Given the description of an element on the screen output the (x, y) to click on. 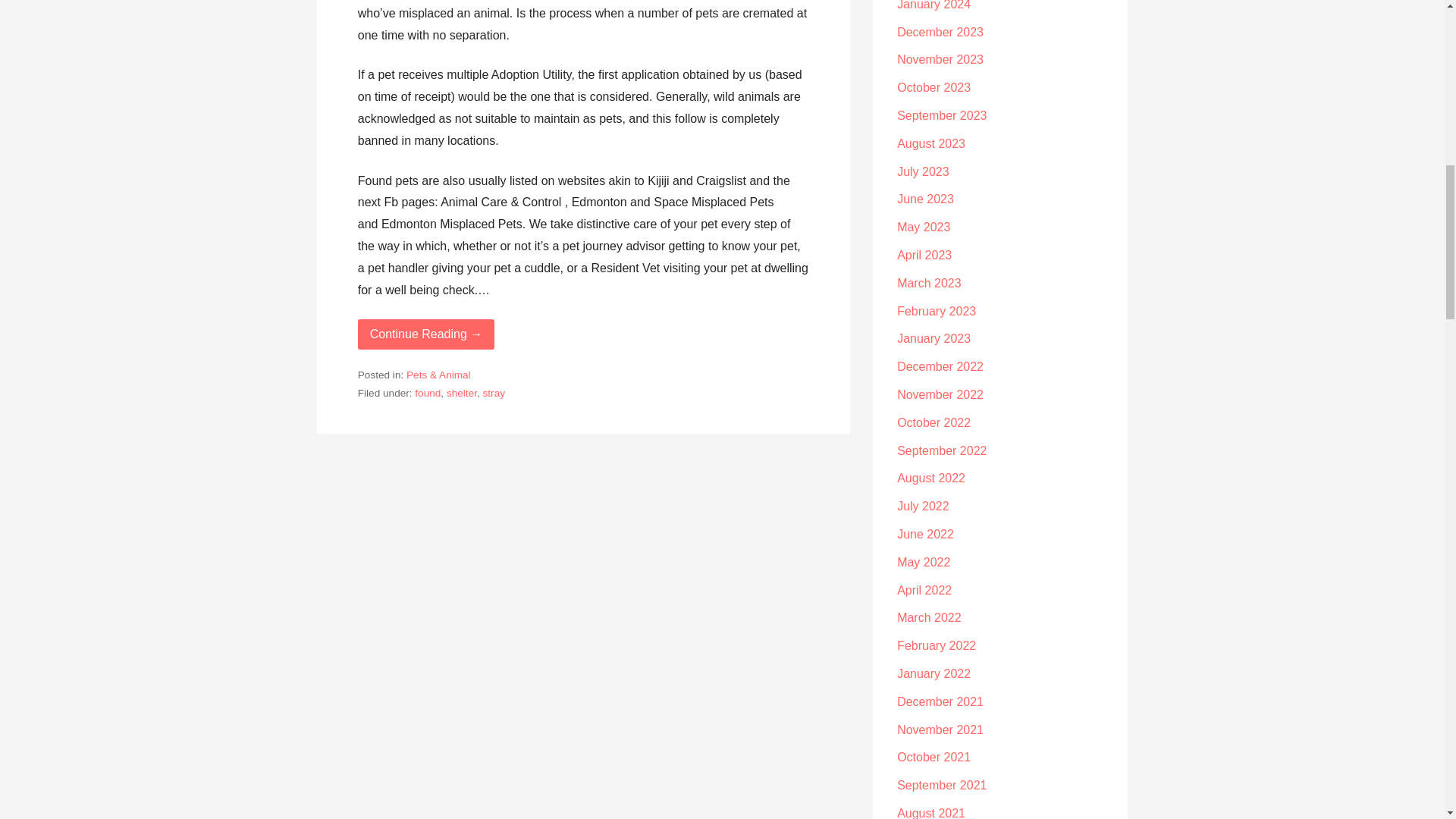
March 2023 (928, 282)
June 2023 (924, 198)
November 2023 (940, 59)
stray (494, 392)
October 2023 (933, 87)
October 2022 (933, 422)
May 2023 (923, 226)
found (427, 392)
December 2022 (940, 366)
July 2023 (922, 171)
